Given the description of an element on the screen output the (x, y) to click on. 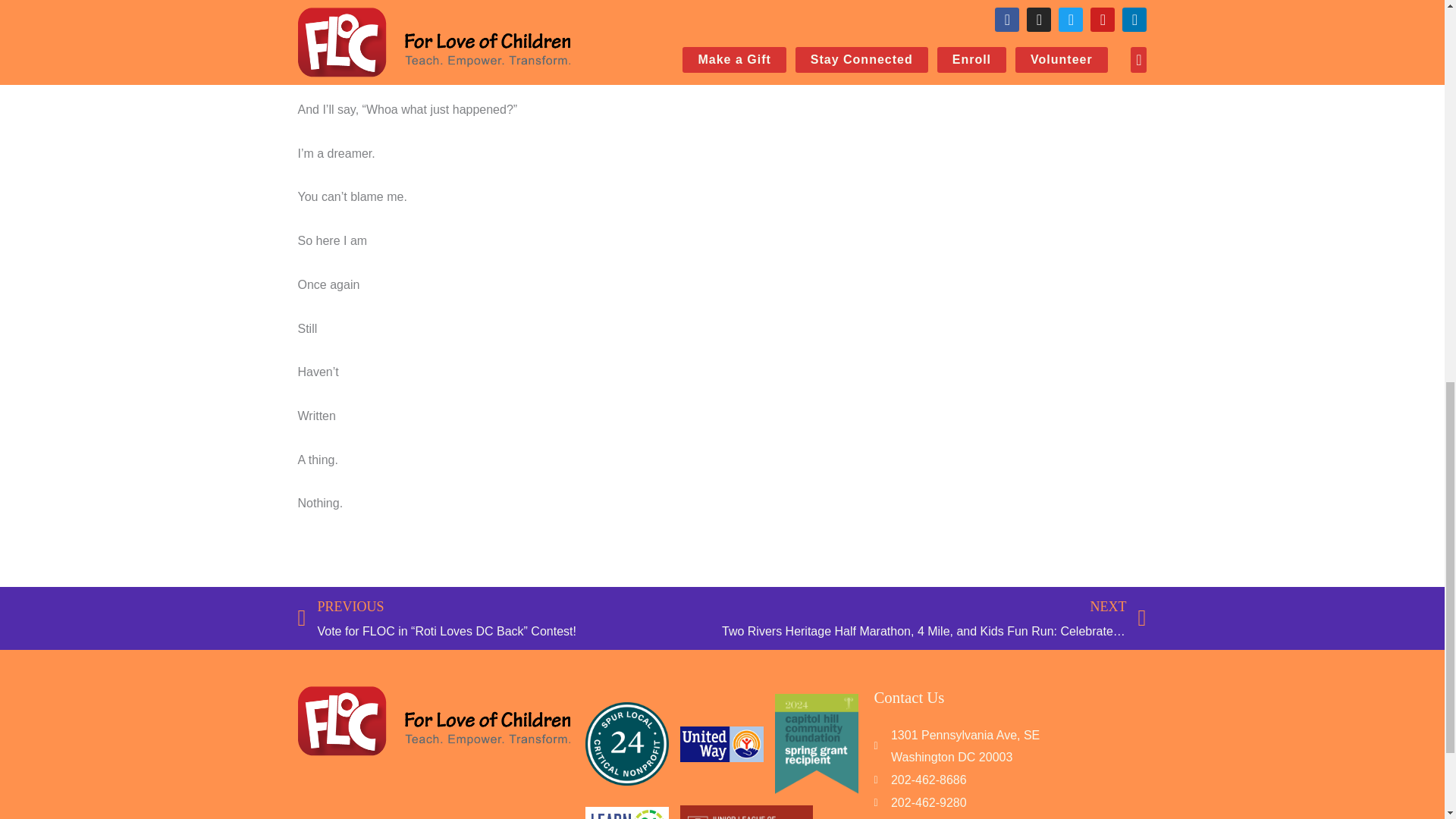
JLW-Logo-1 1 (745, 812)
united-way-banner 1 (720, 744)
